Given the description of an element on the screen output the (x, y) to click on. 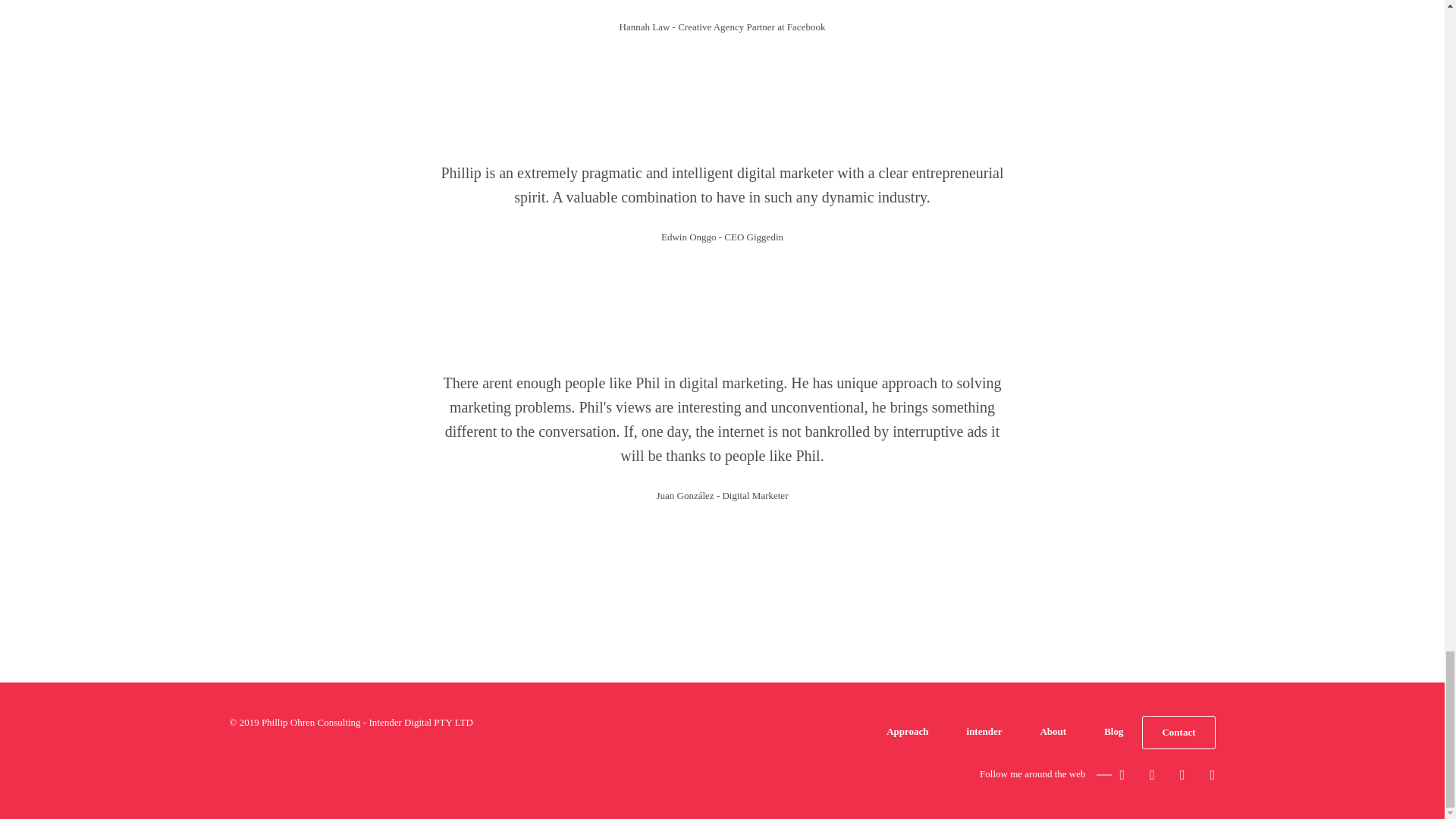
intender (984, 731)
Blog (1112, 731)
Contact (1178, 732)
About (1052, 731)
Approach (907, 731)
